Given the description of an element on the screen output the (x, y) to click on. 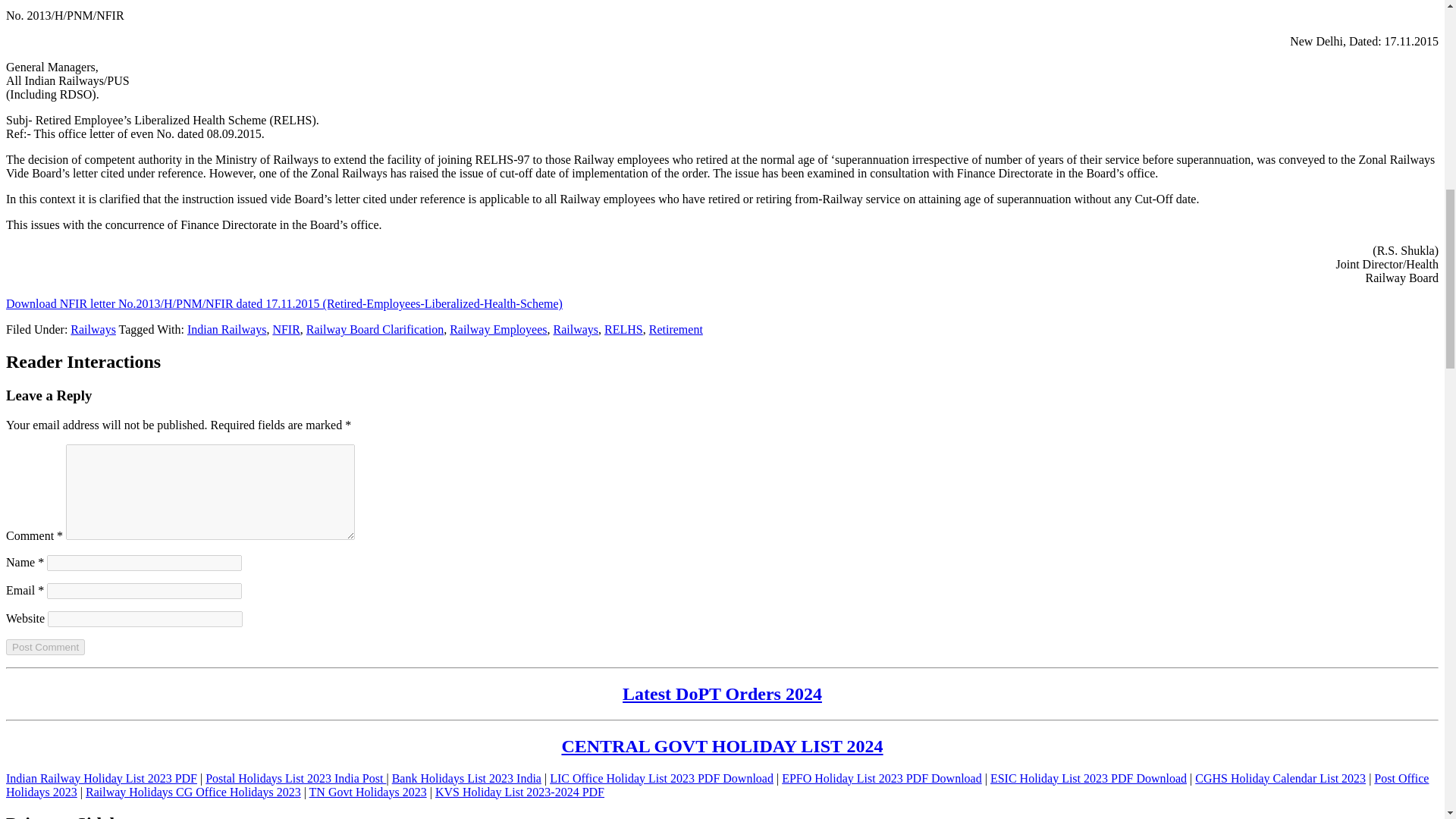
Post Comment (44, 647)
